Given the description of an element on the screen output the (x, y) to click on. 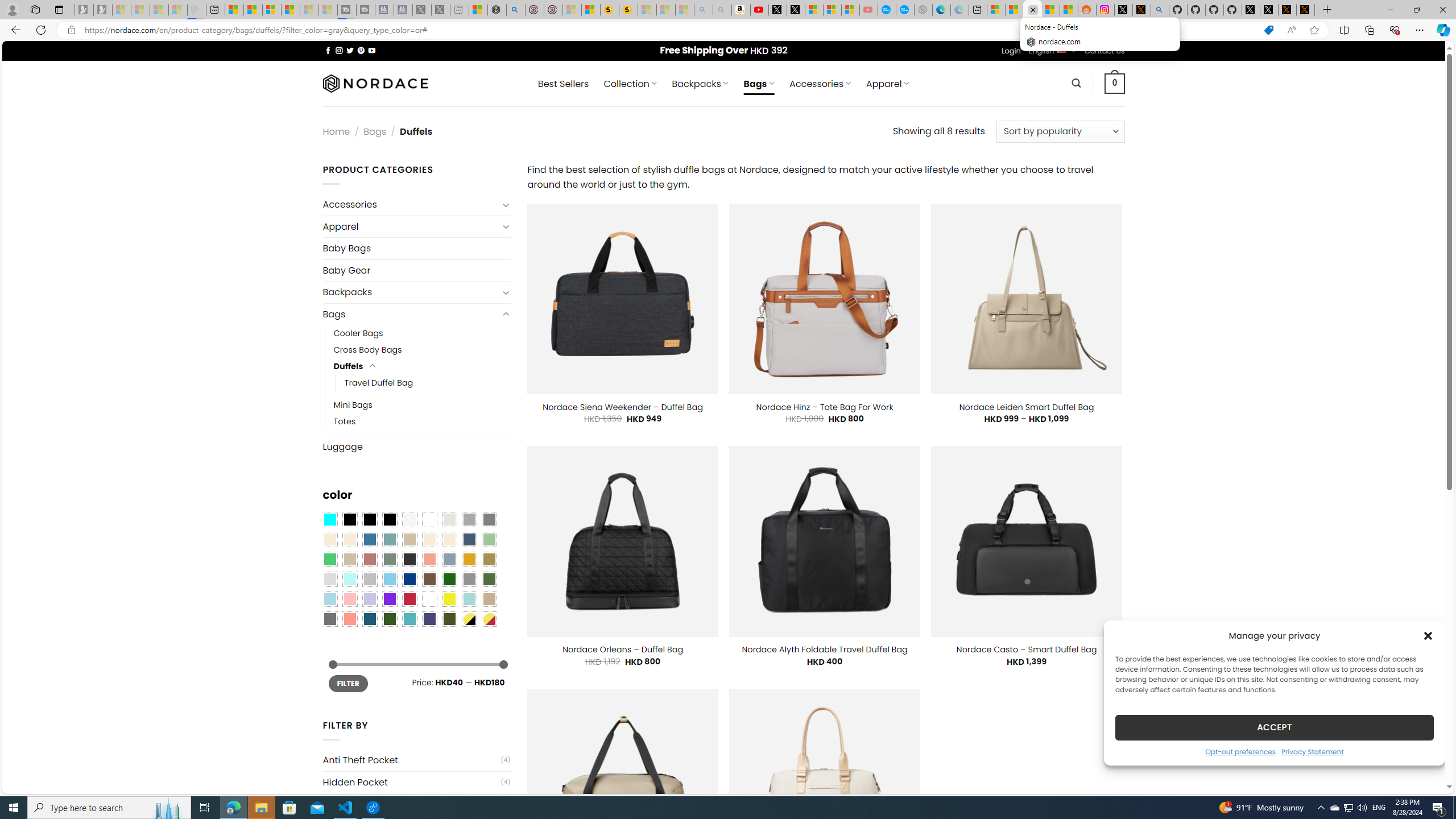
Red (408, 599)
Dull Nickle (329, 618)
White (429, 599)
Blue Sage (389, 539)
Anti Theft Pocket (410, 760)
Blue (369, 539)
Kelp (488, 559)
